Given the description of an element on the screen output the (x, y) to click on. 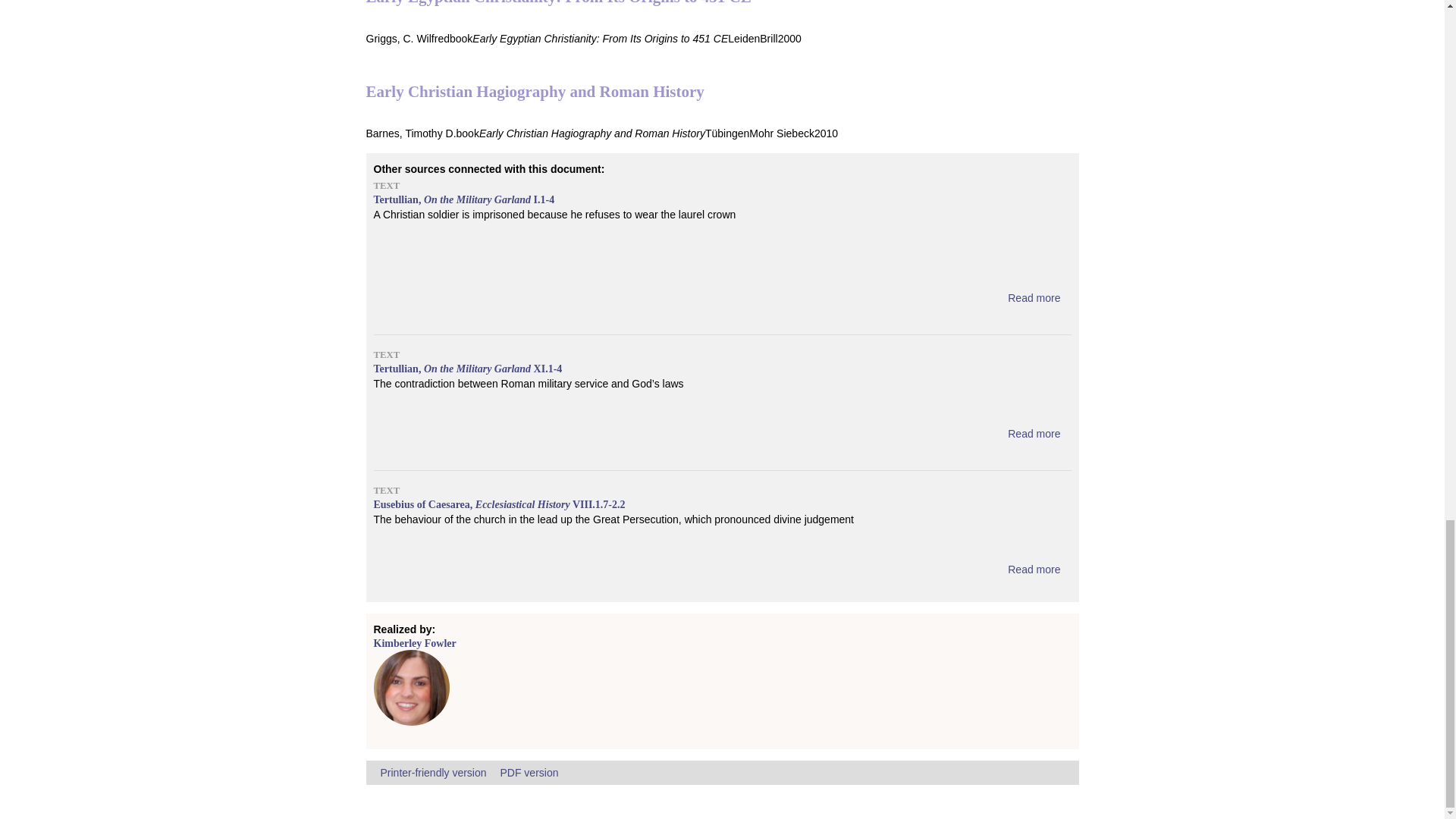
Eusebius of Caesarea, Ecclesiastical History VIII.1.7-2.2 (1033, 569)
Tertullian, On the Military Garland I.1-4 (1033, 297)
Display a PDF version of this page. (528, 772)
Display a printer-friendly version of this page. (433, 772)
Tertullian, On the Military Garland XI.1-4 (1033, 433)
